Given the description of an element on the screen output the (x, y) to click on. 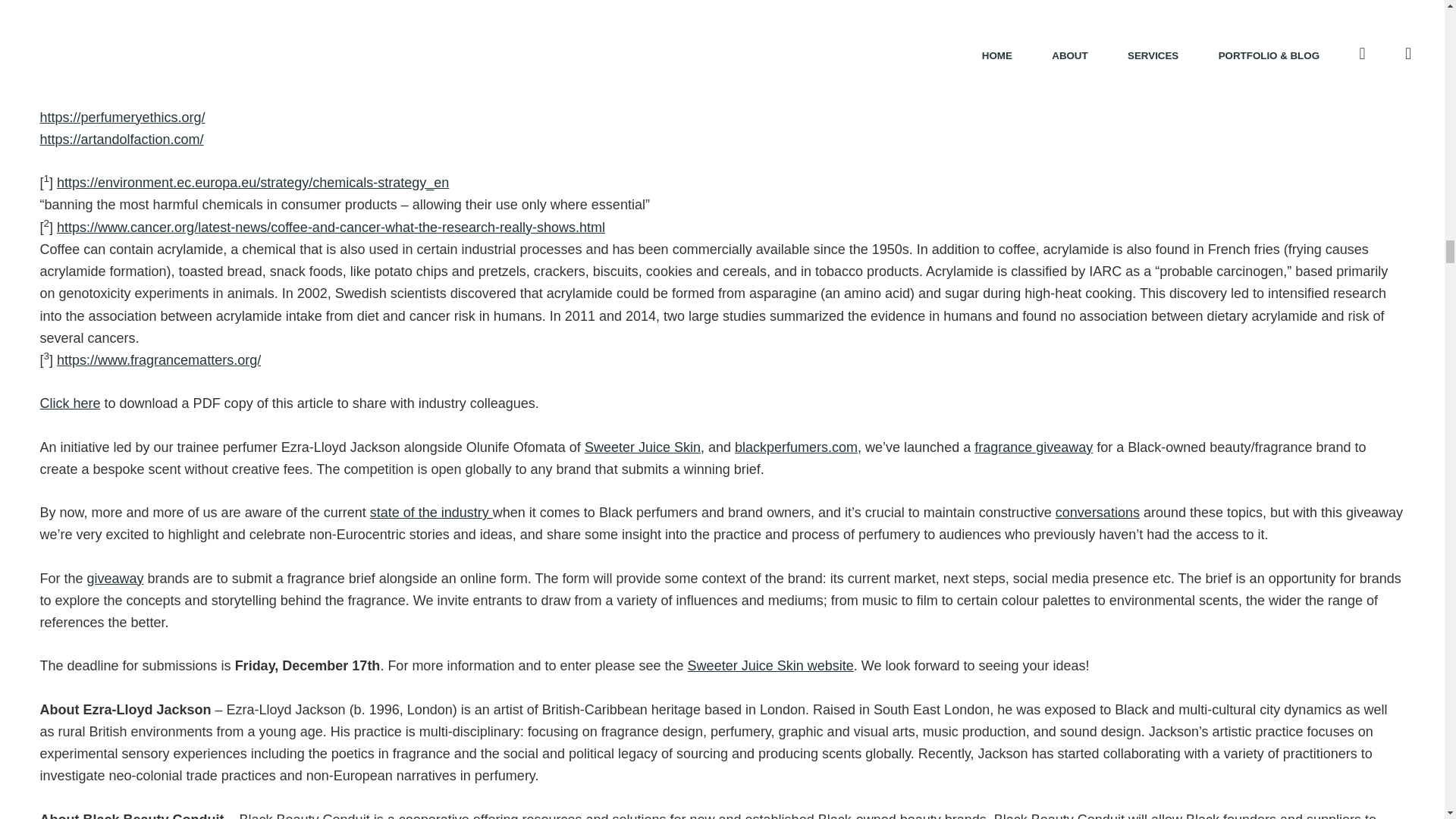
blackperfumers.com (796, 447)
Sweeter Juice Skin (642, 447)
fragrance giveaway (1033, 447)
Click here (69, 403)
